Given the description of an element on the screen output the (x, y) to click on. 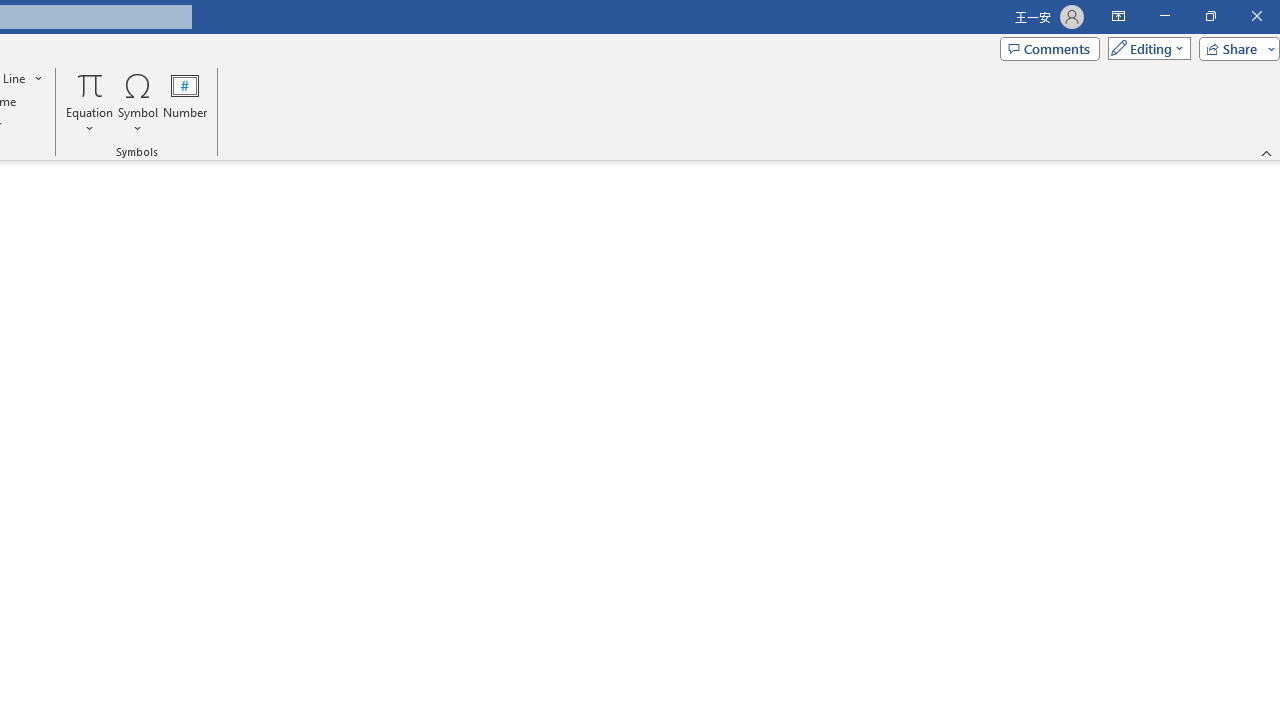
Comments (1049, 48)
Equation (90, 84)
Restore Down (1210, 16)
Minimize (1164, 16)
Number... (185, 102)
Symbol (138, 102)
Ribbon Display Options (1118, 16)
Equation (90, 102)
Editing (1144, 47)
Share (1235, 48)
Collapse the Ribbon (1267, 152)
